Given the description of an element on the screen output the (x, y) to click on. 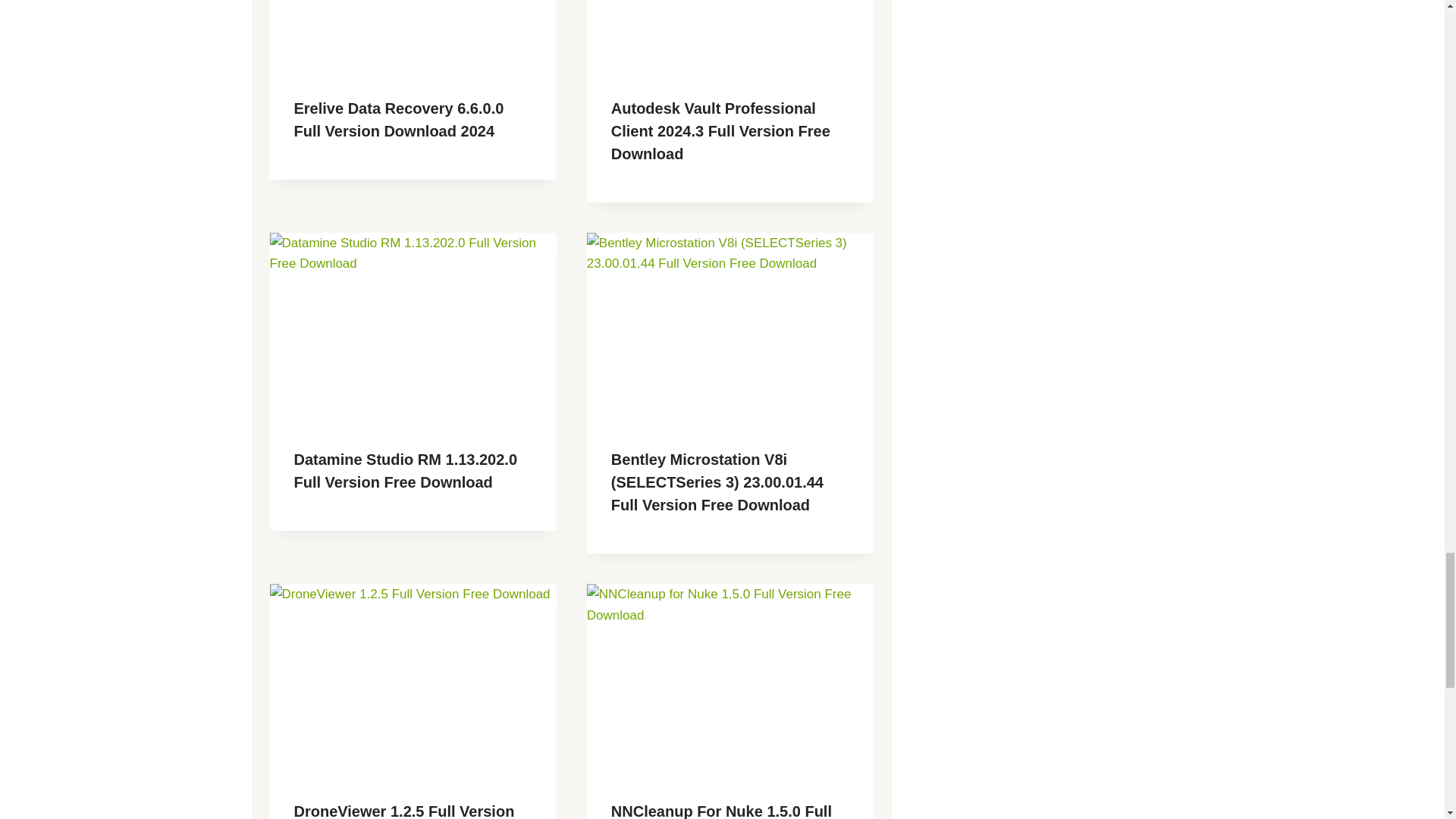
Datamine Studio RM 1.13.202.0 Full Version Free Download (406, 470)
Erelive Data Recovery 6.6.0.0 Full Version Download 2024 (398, 119)
